Given the description of an element on the screen output the (x, y) to click on. 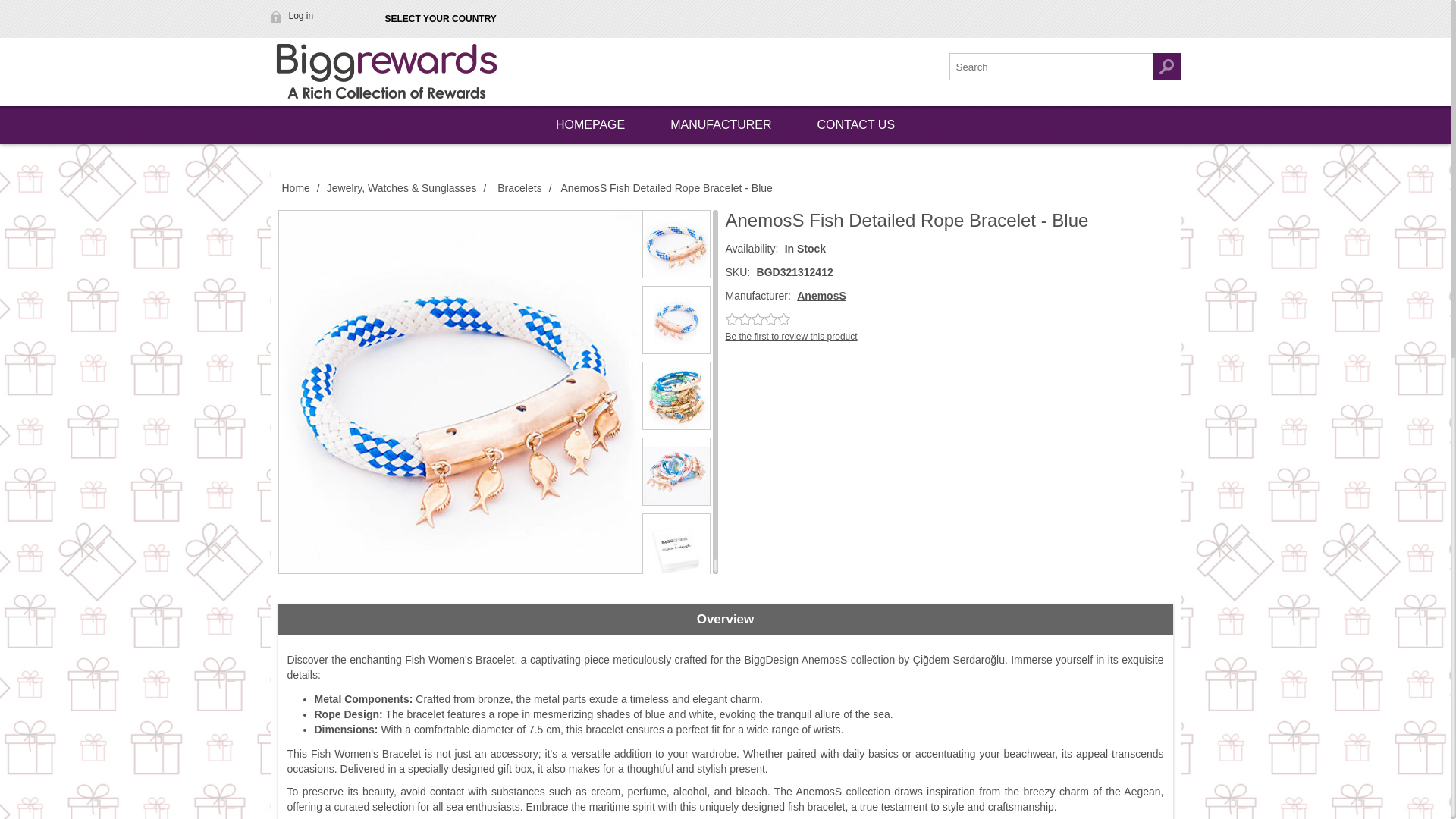
media.product.imagelinktitleformat.details (676, 547)
SELECT YOUR COUNTRY (440, 19)
HomePage (589, 125)
media.product.imagelinktitleformat.details (676, 319)
media.product.imagelinktitleformat.details (460, 391)
Search (1166, 66)
media.product.imagelinktitleformat.details (676, 471)
Log in (293, 15)
Manufacturer (720, 125)
Search (1166, 66)
